Given the description of an element on the screen output the (x, y) to click on. 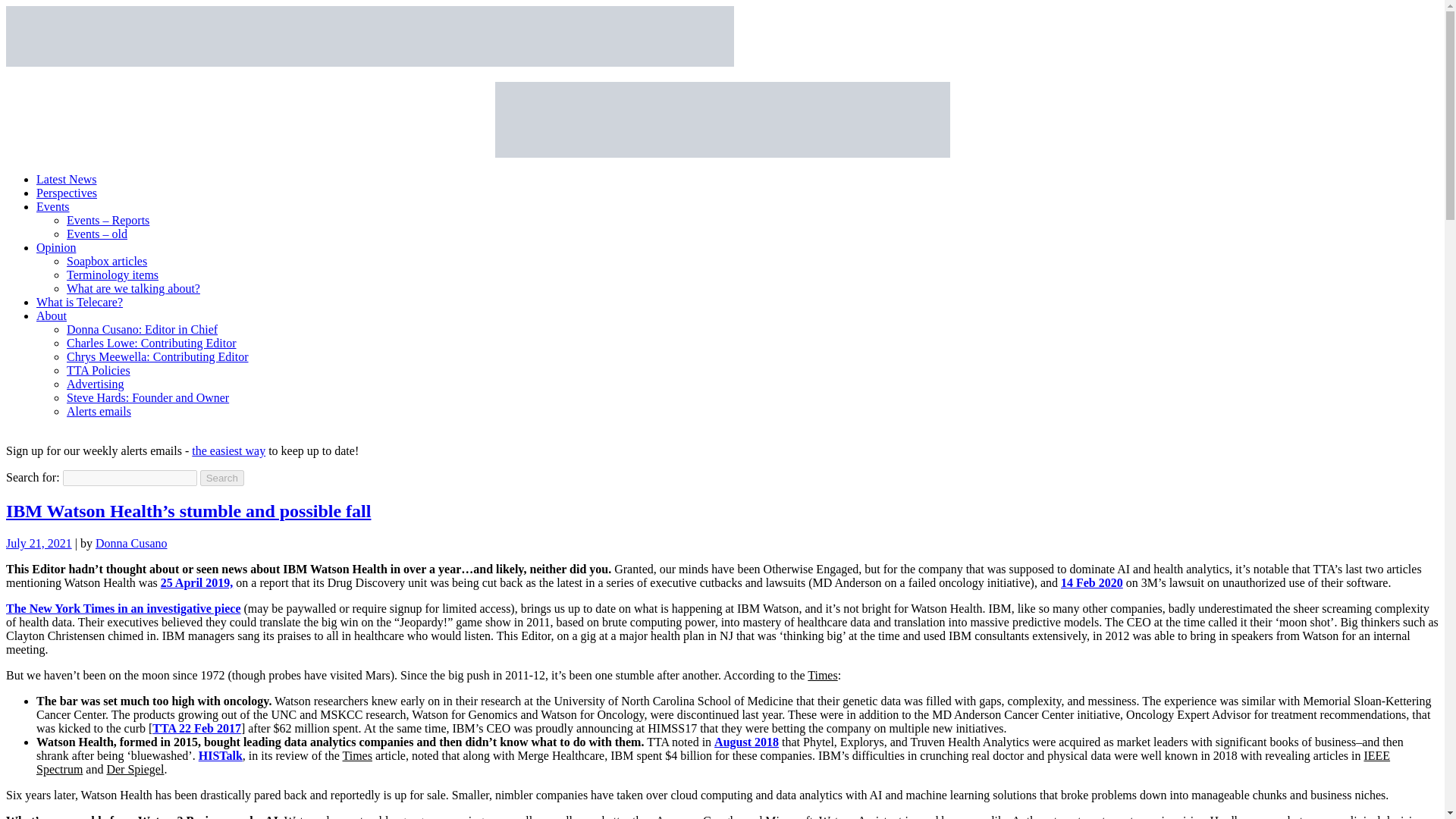
Terminology items (112, 274)
TTA Policies (98, 369)
Steve Hards: Founder and Owner (147, 397)
Charles Lowe: Contributing Editor (150, 342)
Soapbox articles (106, 260)
Advertising (94, 383)
Alerts emails (98, 410)
What are we talking about? (133, 287)
Opinion (55, 246)
Search (222, 478)
Latest News (66, 178)
Search (222, 478)
Events (52, 205)
Chrys Meewella: Contributing Editor (157, 356)
Perspectives (66, 192)
